Given the description of an element on the screen output the (x, y) to click on. 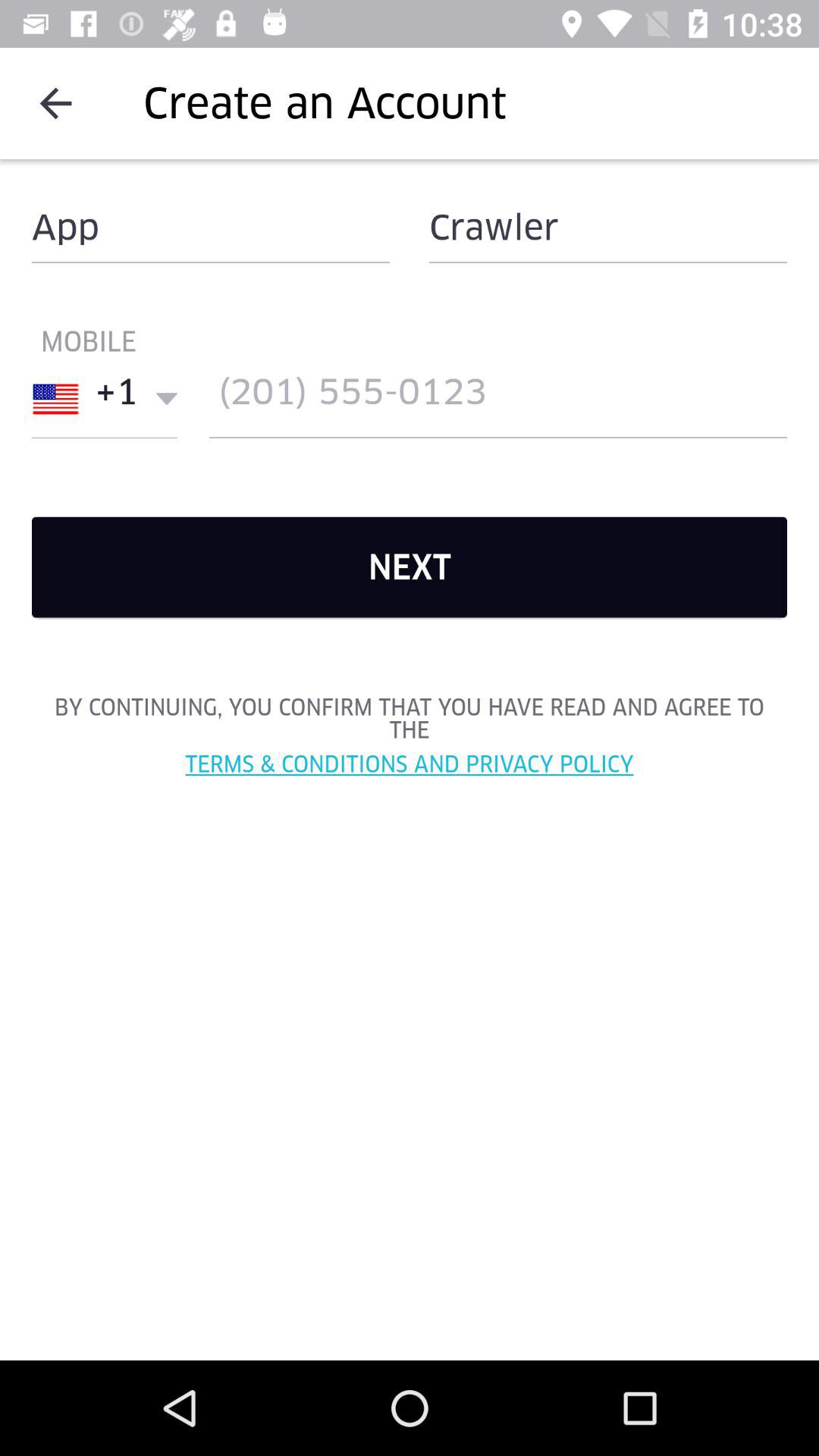
select the text below the create an account (210, 226)
select the text input field box which is above the next button (498, 399)
